Given the description of an element on the screen output the (x, y) to click on. 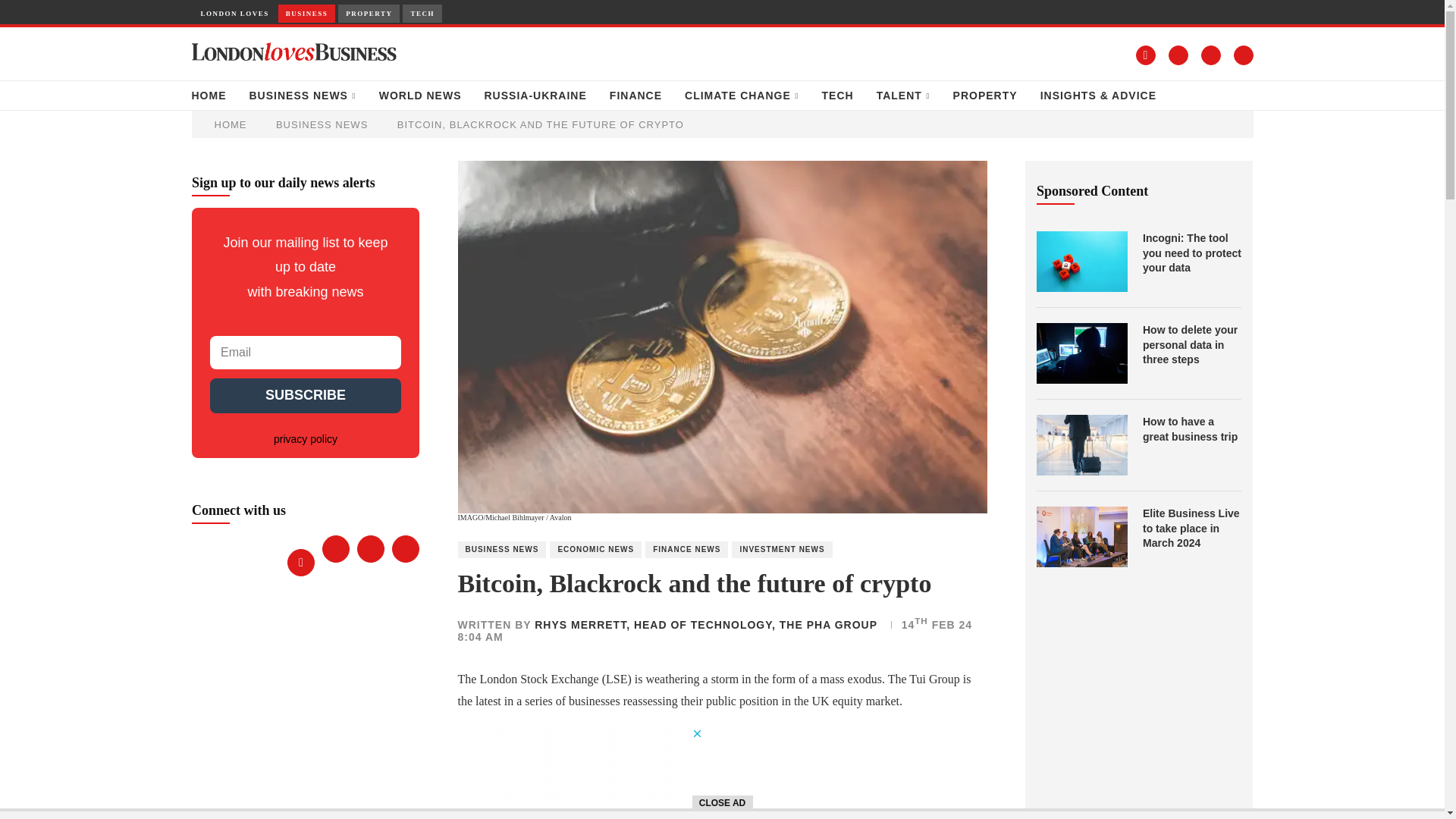
3rd party ad content (589, 773)
Incogni: The tool you need to protect your data (1081, 260)
